Given the description of an element on the screen output the (x, y) to click on. 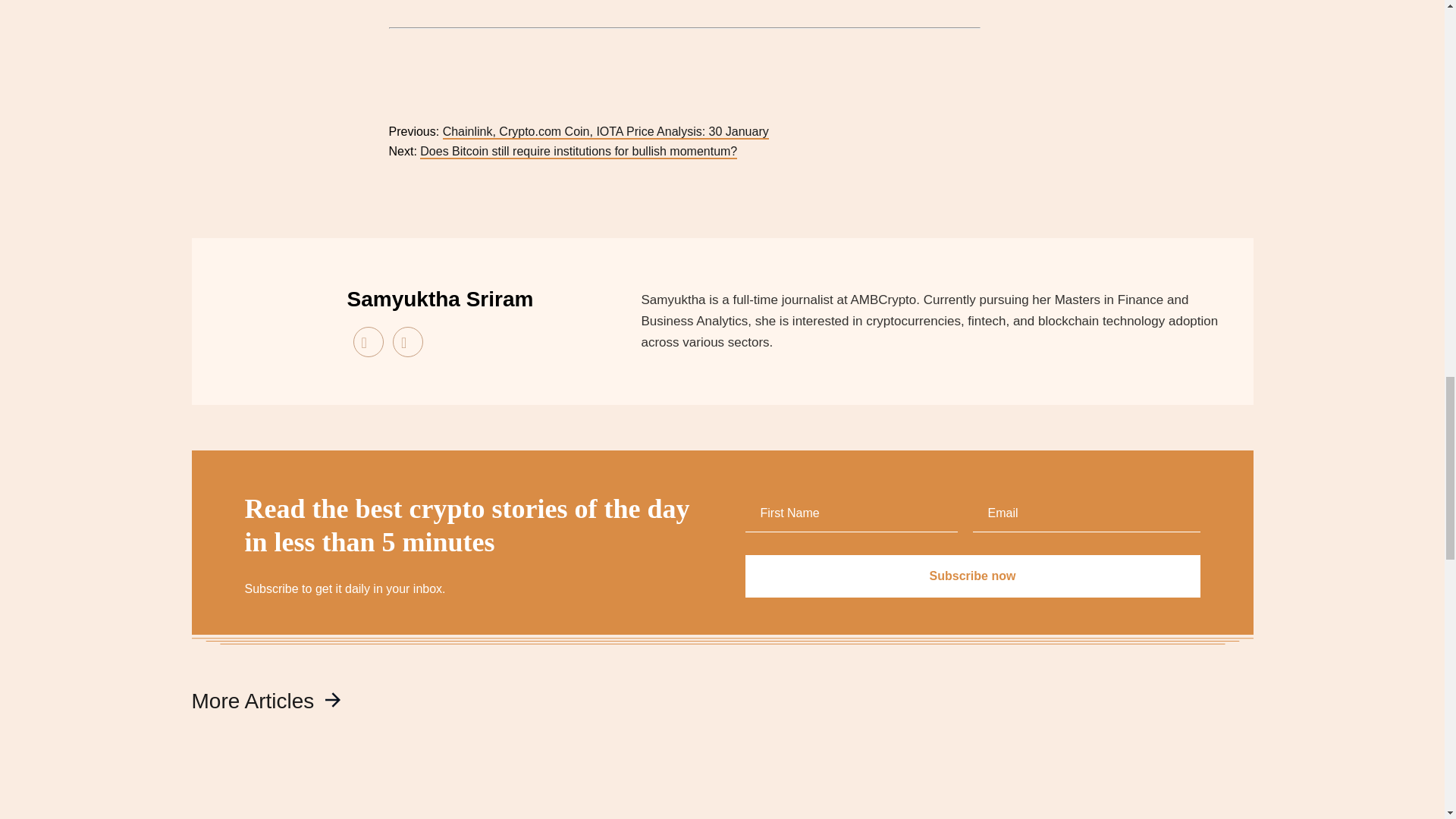
Subscribe now (971, 576)
